Given the description of an element on the screen output the (x, y) to click on. 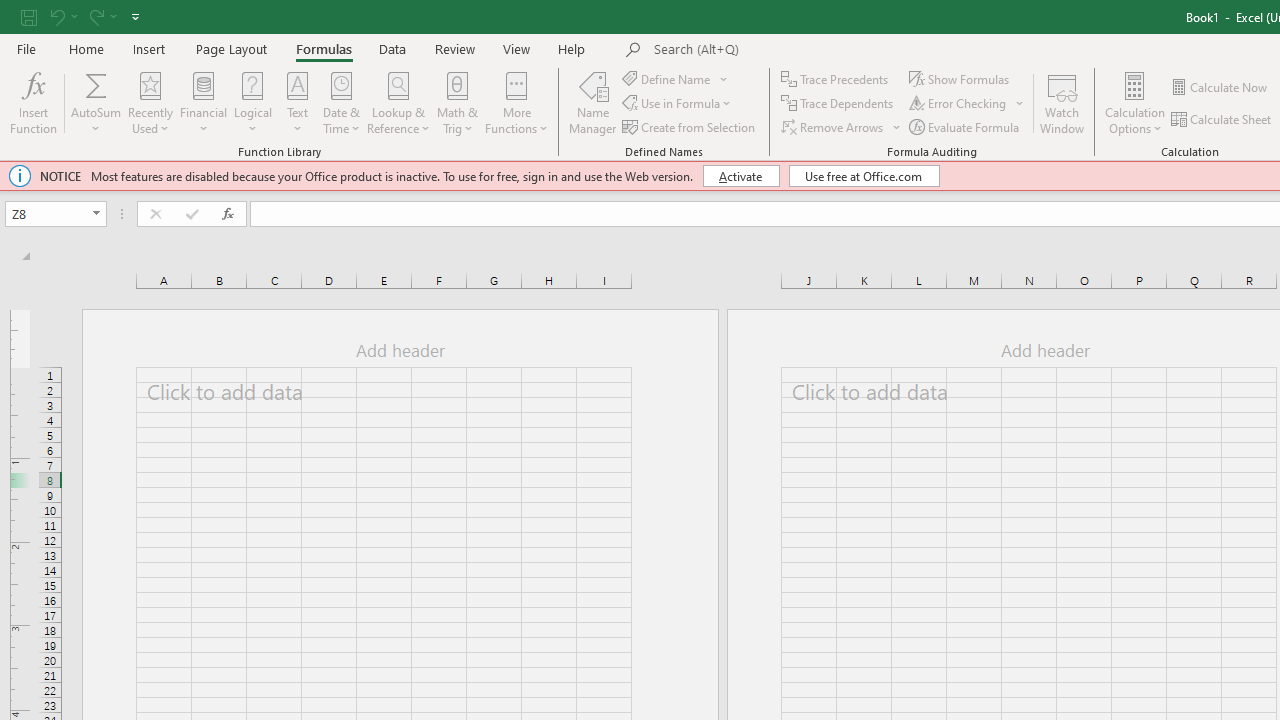
Calculate Now (1220, 87)
Trace Dependents (838, 103)
Remove Arrows (833, 126)
Use in Formula (678, 103)
